Given the description of an element on the screen output the (x, y) to click on. 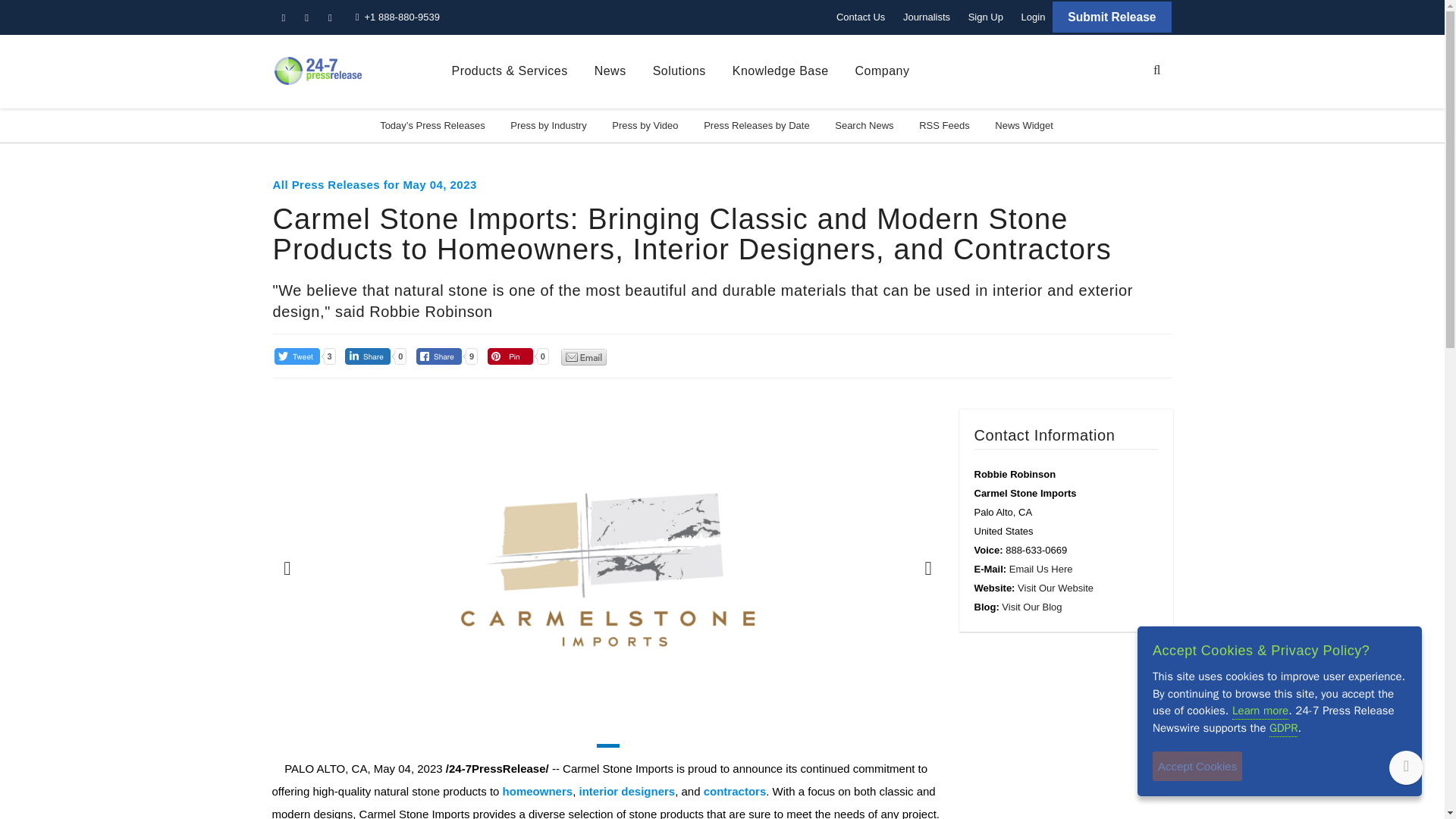
Knowledge Base (780, 71)
Company (882, 71)
Submit Release (1111, 16)
Sign Up (985, 16)
Solutions (679, 71)
Login (1032, 16)
Contact Us (860, 16)
Journalists (926, 16)
